Given the description of an element on the screen output the (x, y) to click on. 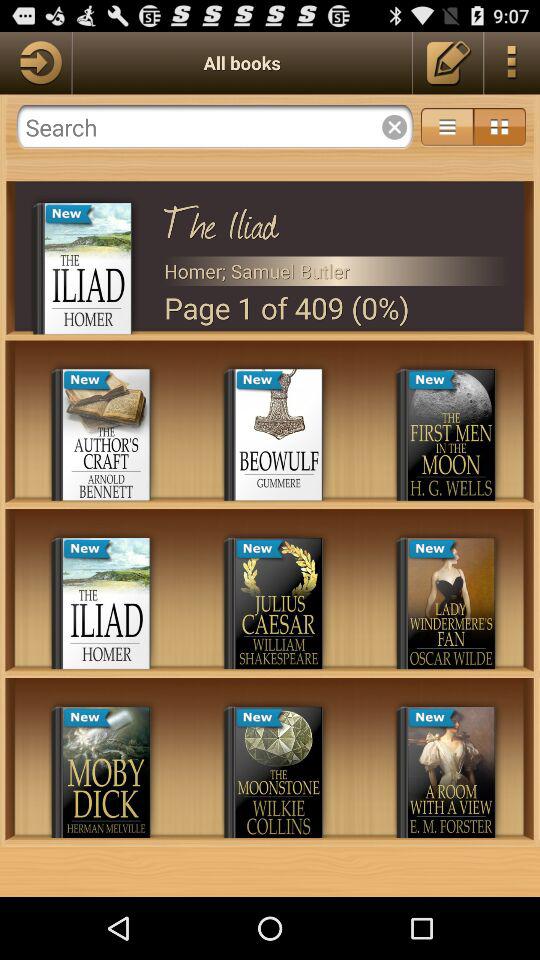
close the search result (394, 127)
